Given the description of an element on the screen output the (x, y) to click on. 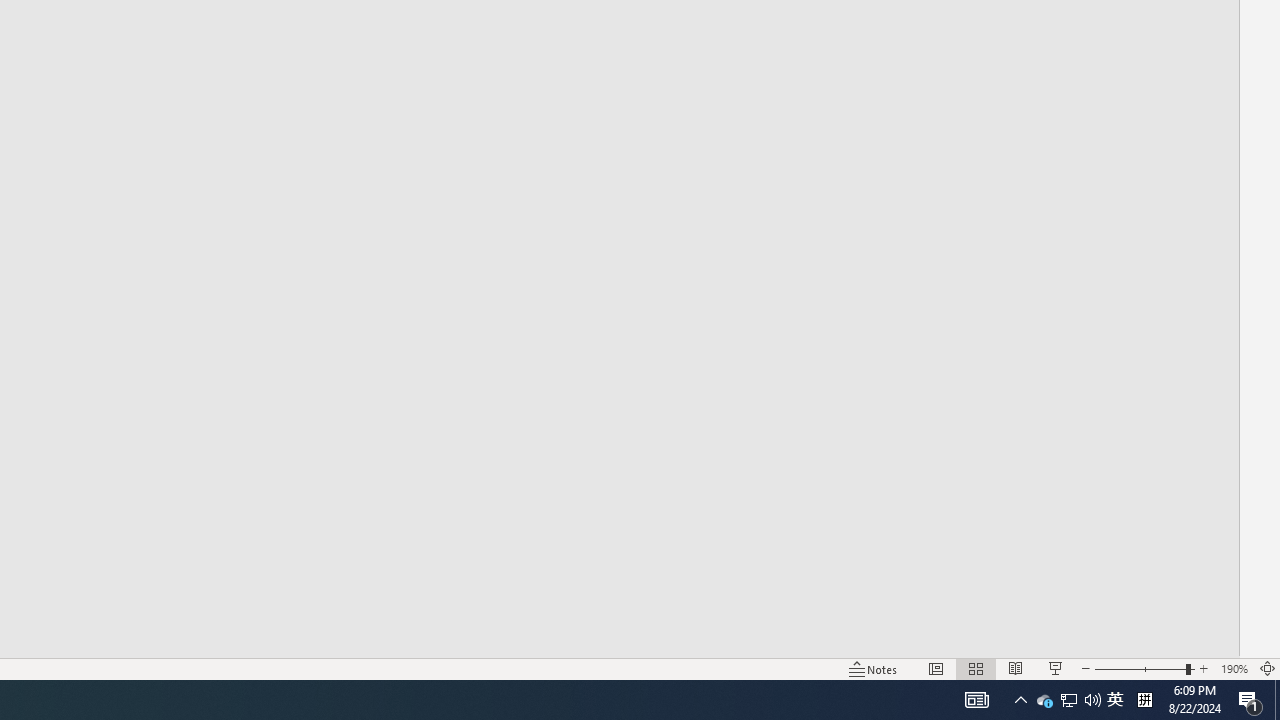
Zoom 190% (1234, 668)
